Given the description of an element on the screen output the (x, y) to click on. 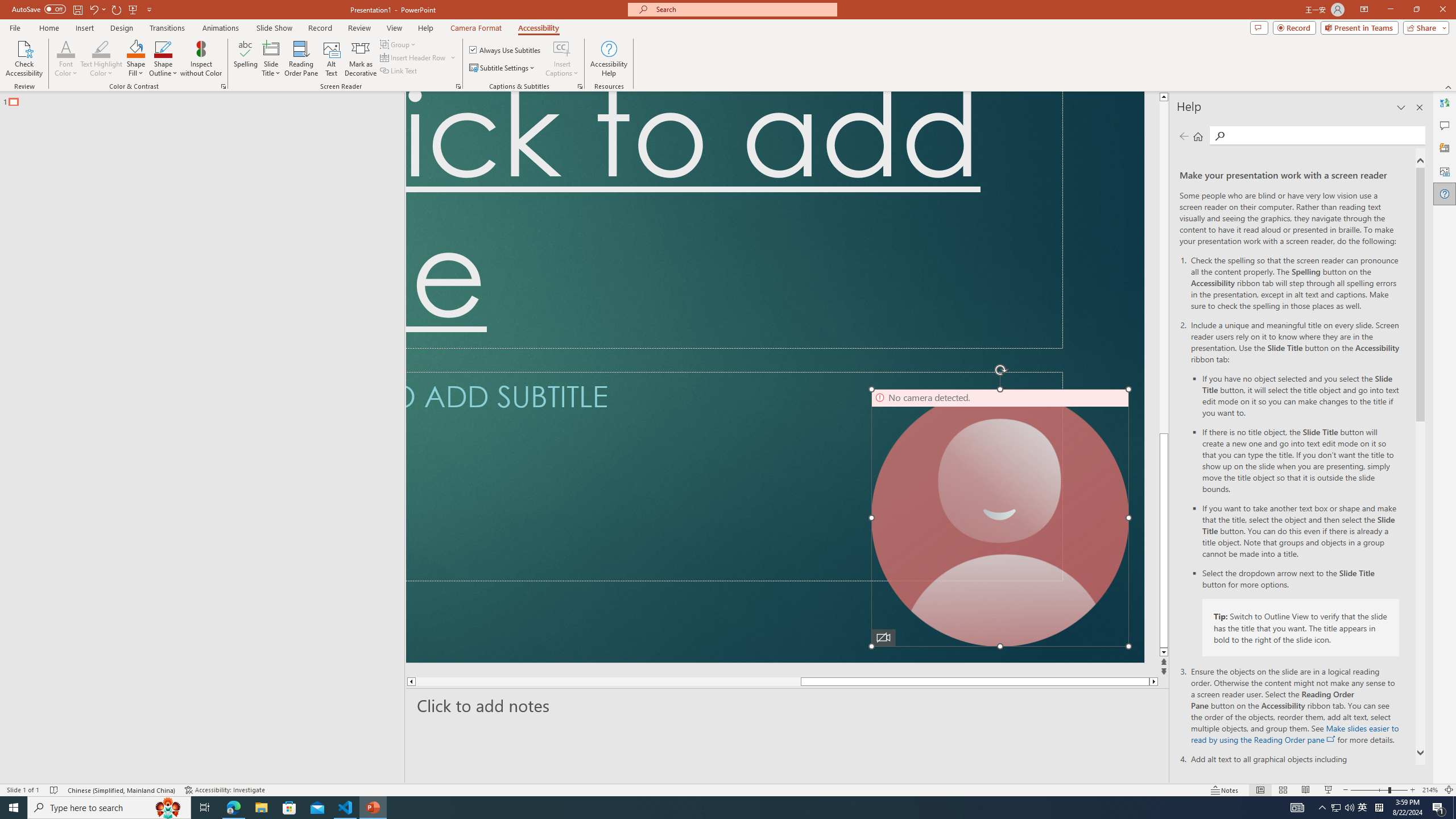
Decorative Locked (775, 376)
Alt Text (331, 58)
Zoom 214% (1430, 790)
Spell Check No Errors (54, 790)
Record (320, 28)
Transitions (167, 28)
Collapse the Ribbon (1448, 86)
Link Text (399, 69)
Ribbon Display Options (1364, 9)
Share (1423, 27)
Captions & Subtitles (580, 85)
Slide Title (271, 48)
Insert Header Row (413, 56)
Task Pane Options (1400, 107)
